Given the description of an element on the screen output the (x, y) to click on. 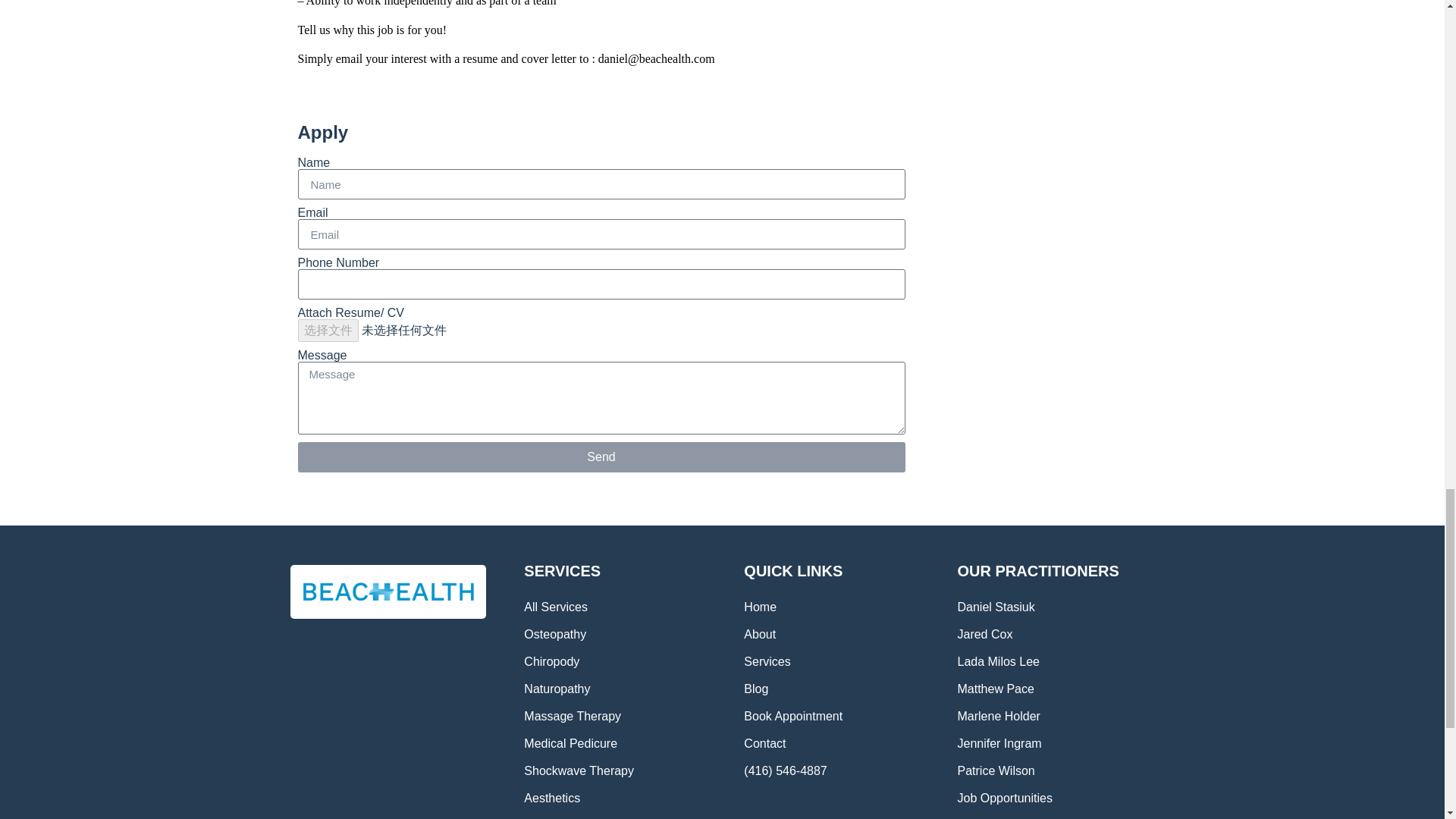
All Services (618, 606)
Osteopathy (618, 634)
Send (600, 457)
